Given the description of an element on the screen output the (x, y) to click on. 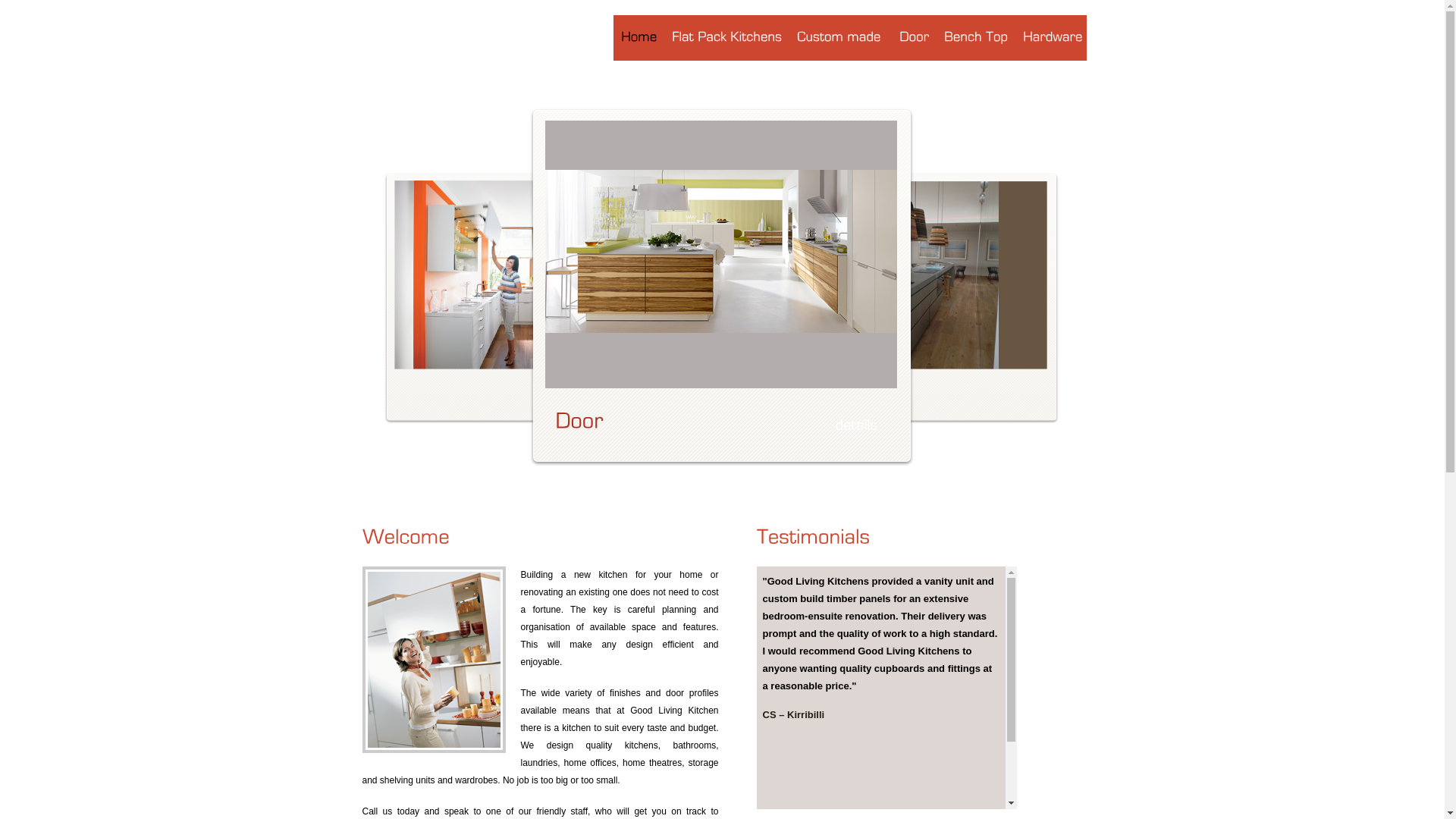
TravelGuide Element type: text (483, 39)
PREV Element type: text (369, 265)
NEXT Element type: text (1074, 265)
